Given the description of an element on the screen output the (x, y) to click on. 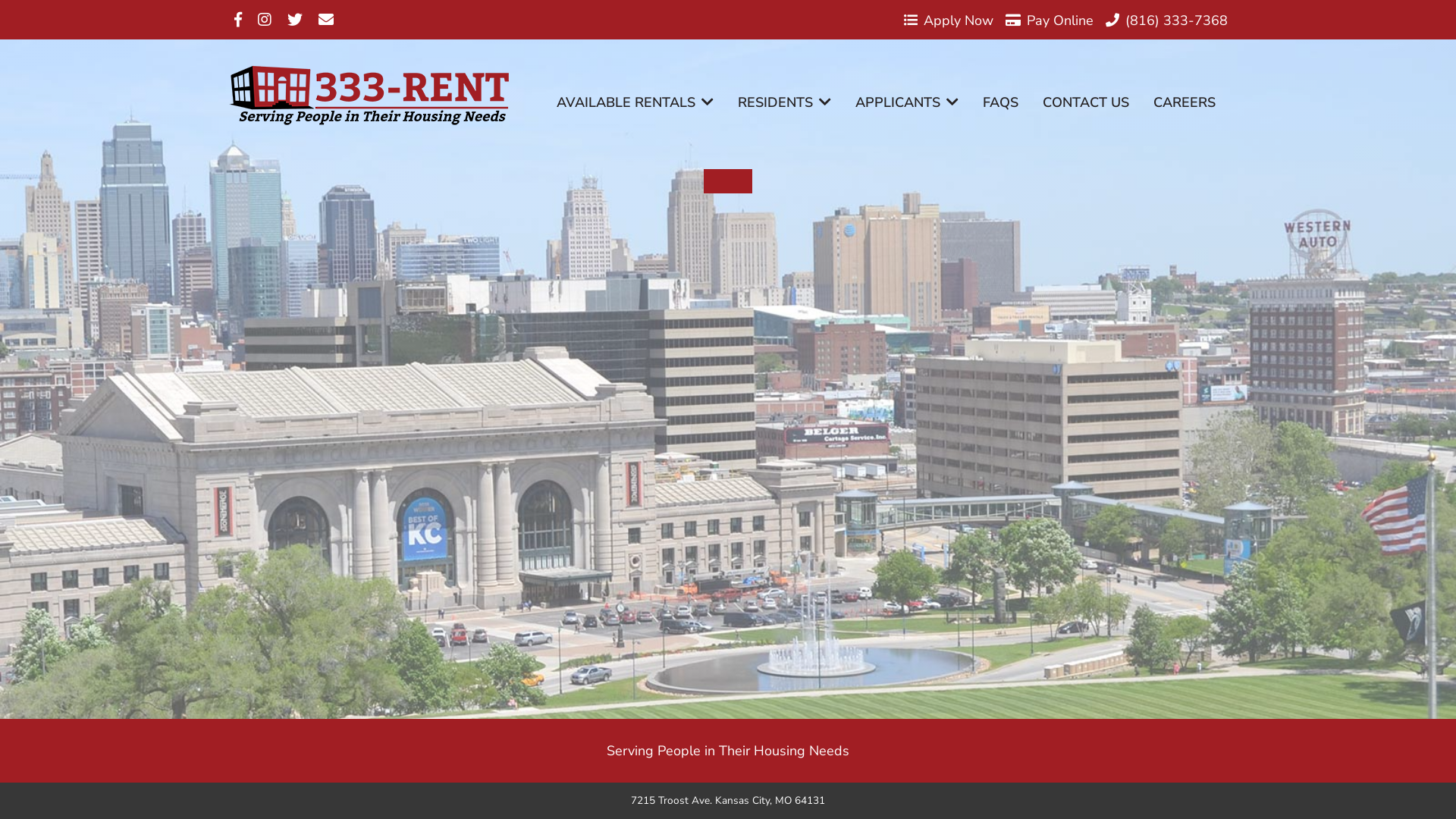
CAREERS Element type: text (1184, 101)
APPLICANTS Element type: text (906, 101)
RESIDENTS Element type: text (784, 101)
FAQS Element type: text (1000, 101)
(816) 333-7368 Element type: text (1160, 19)
CONTACT US Element type: text (1085, 101)
AVAILABLE RENTALS Element type: text (634, 101)
7215 Troost Ave. Kansas City, MO 64131 Element type: text (727, 800)
Apply Now Element type: text (948, 19)
Pay Online Element type: text (1043, 19)
